Given the description of an element on the screen output the (x, y) to click on. 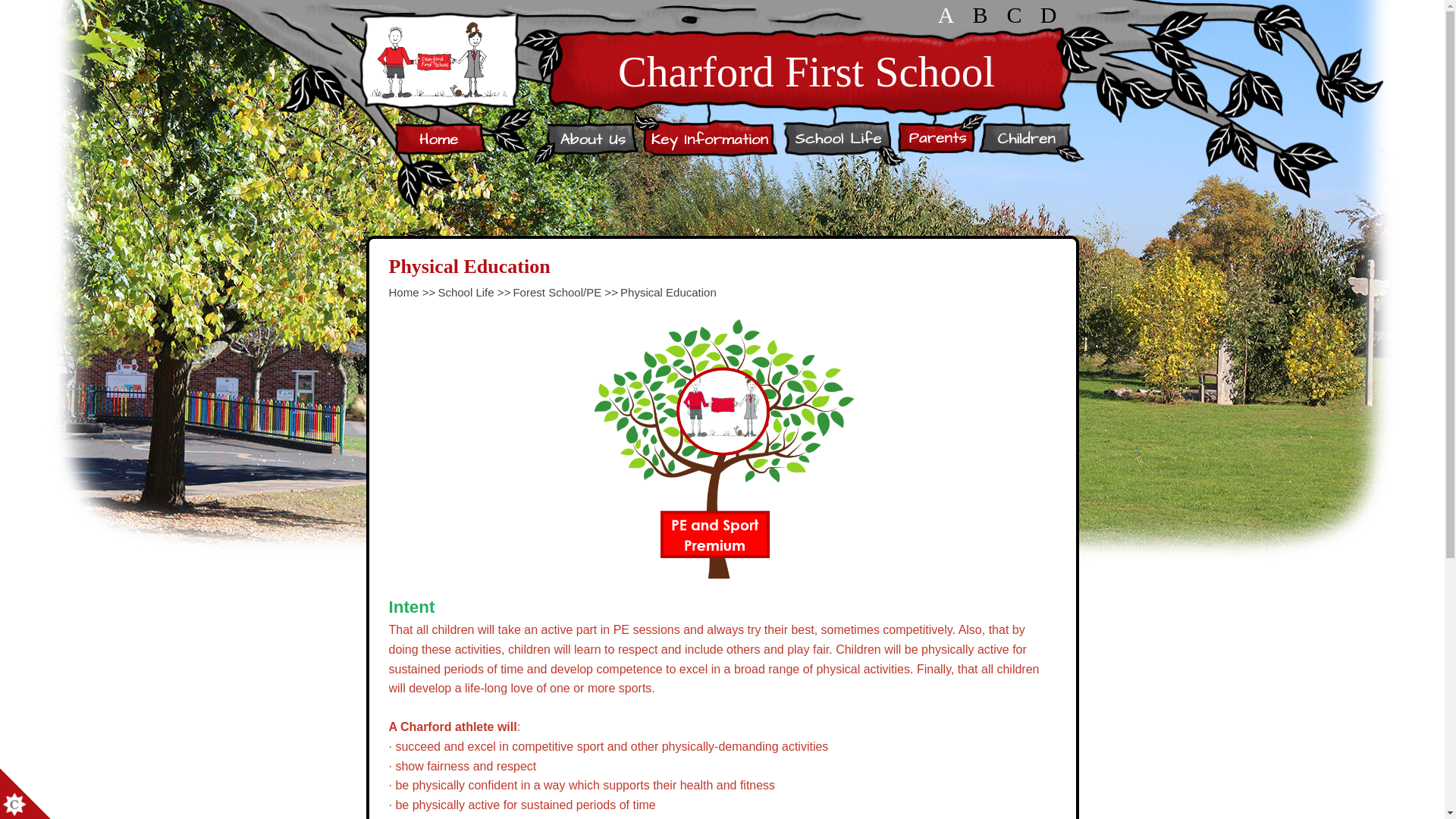
About Us (592, 138)
Home (441, 138)
Home Page (437, 59)
Log in (1047, 15)
Key Information (708, 138)
